Given the description of an element on the screen output the (x, y) to click on. 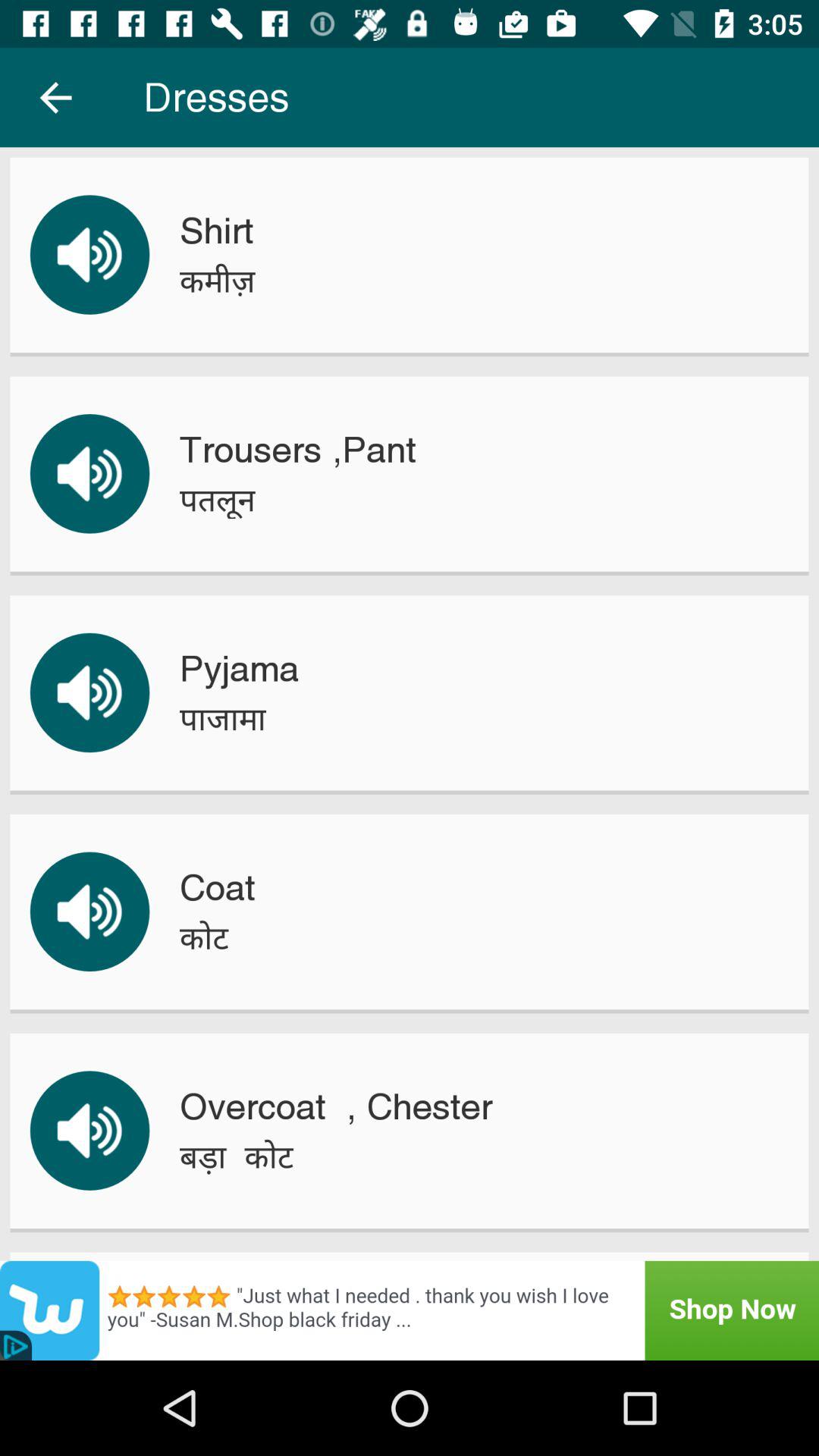
swipe to the coat (217, 887)
